Given the description of an element on the screen output the (x, y) to click on. 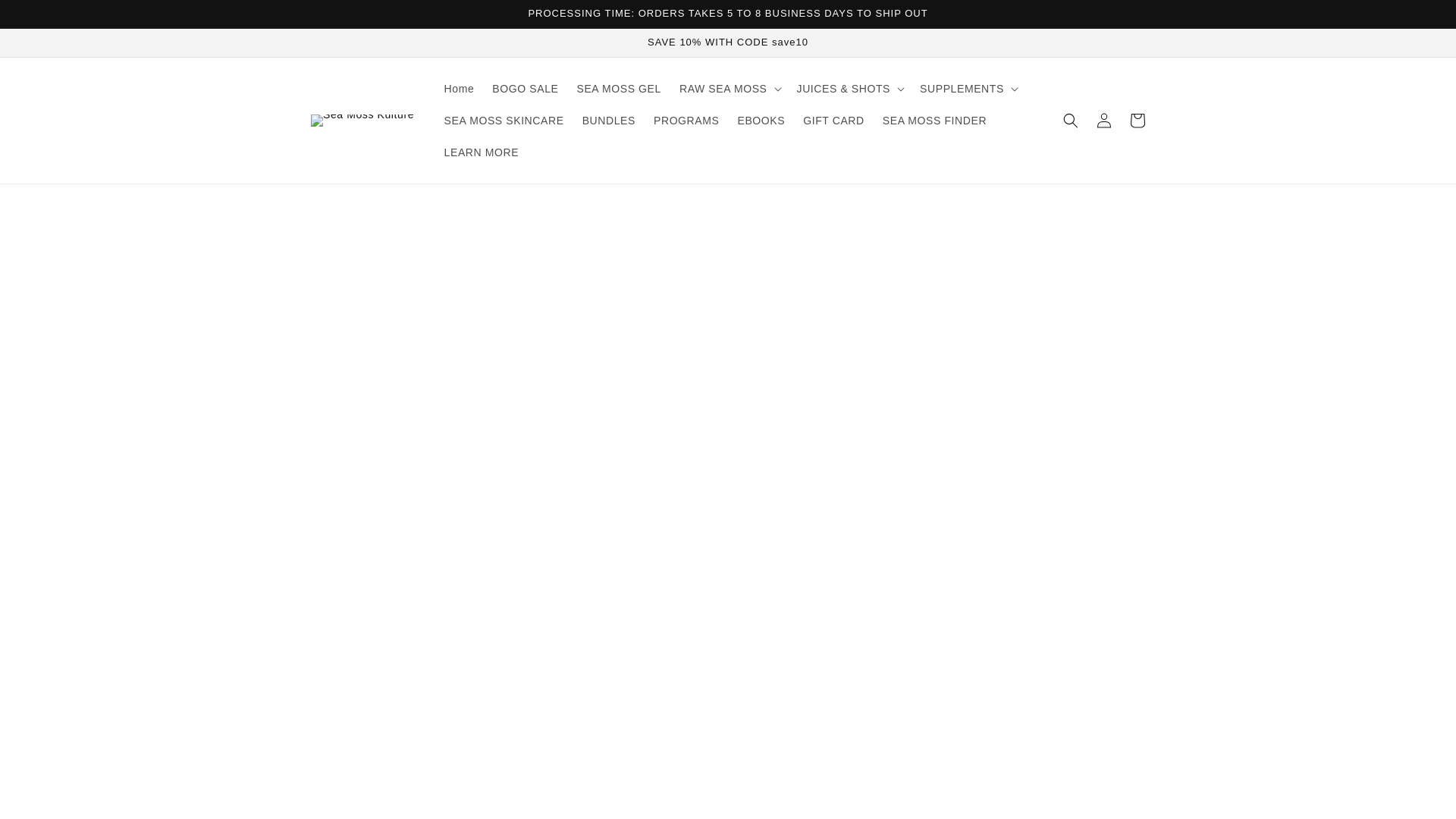
SEA MOSS GEL (618, 88)
BOGO SALE (525, 88)
Home (459, 88)
Skip to content (45, 17)
